Given the description of an element on the screen output the (x, y) to click on. 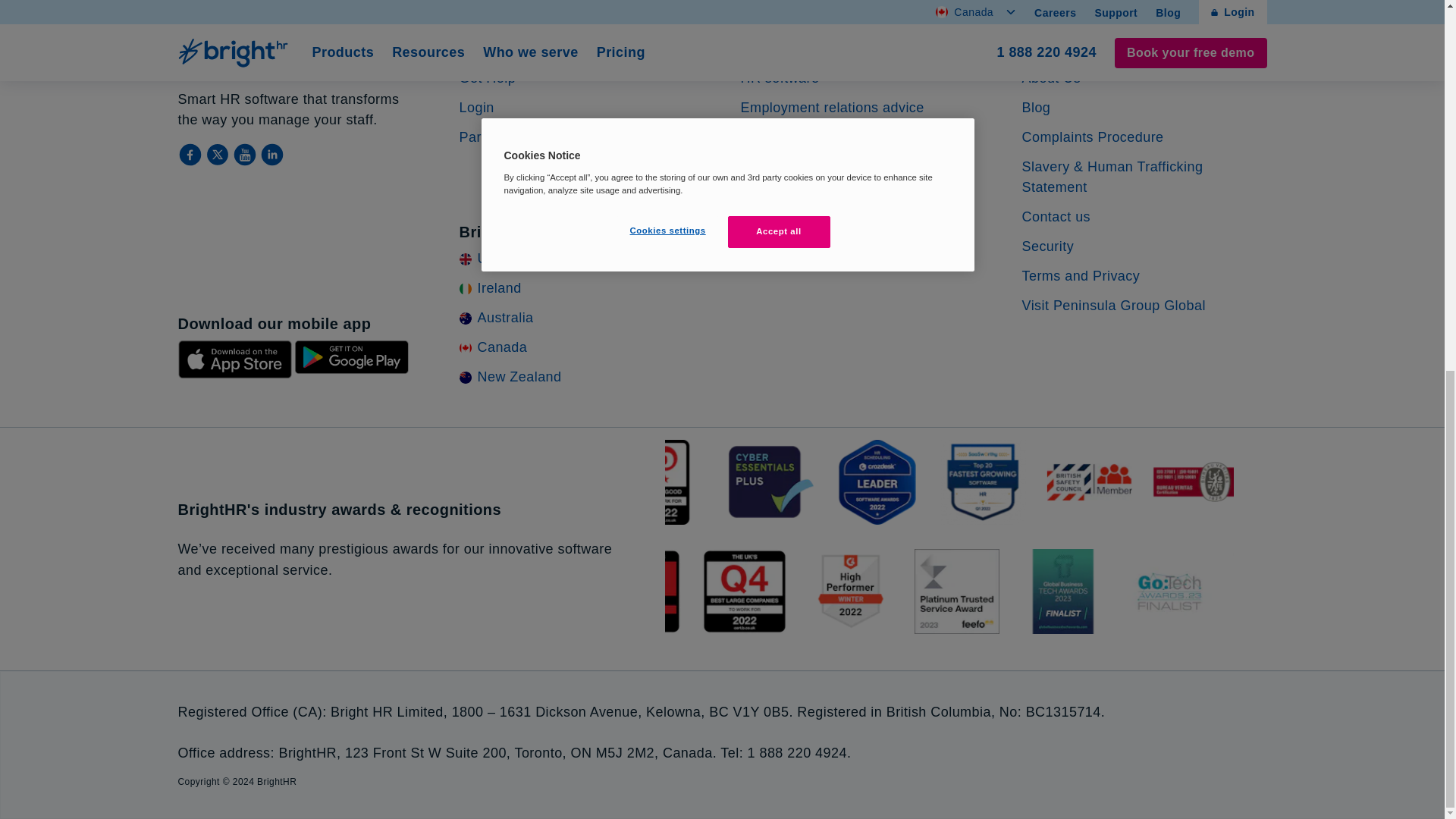
Facebook (191, 154)
Expense tracker (791, 196)
Blog (1036, 107)
HR software (778, 77)
Twitter (218, 154)
Partners (486, 136)
Employment relations advice (831, 107)
Youtube (245, 154)
About Us (1051, 77)
Get Help (488, 77)
Login (477, 107)
Complaints Procedure (1092, 136)
LinkedIn (271, 154)
Clocking-in (774, 166)
